Given the description of an element on the screen output the (x, y) to click on. 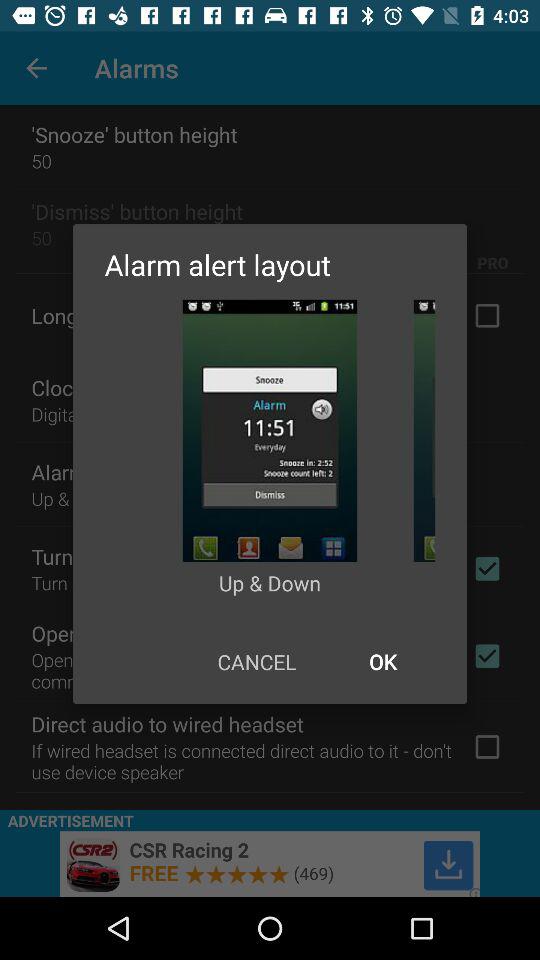
launch icon at the bottom right corner (382, 661)
